Given the description of an element on the screen output the (x, y) to click on. 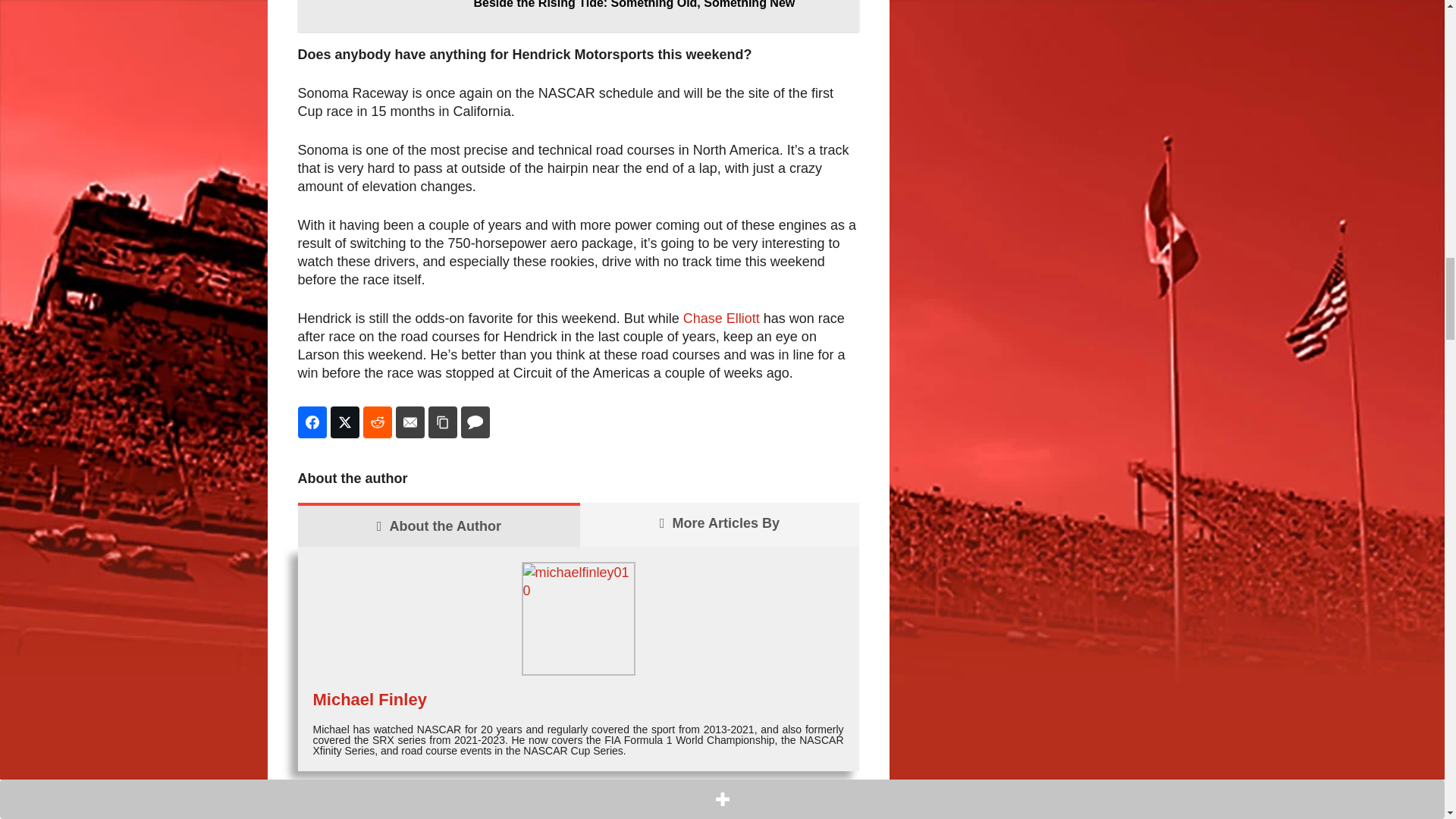
Share on Twitter (344, 422)
Michael Finley (369, 699)
Share on Facebook (311, 422)
Chase Elliott (719, 318)
Share on Copy Link (442, 422)
Share on Email (410, 422)
Share on Comments (475, 422)
Share on Reddit (376, 422)
